Given the description of an element on the screen output the (x, y) to click on. 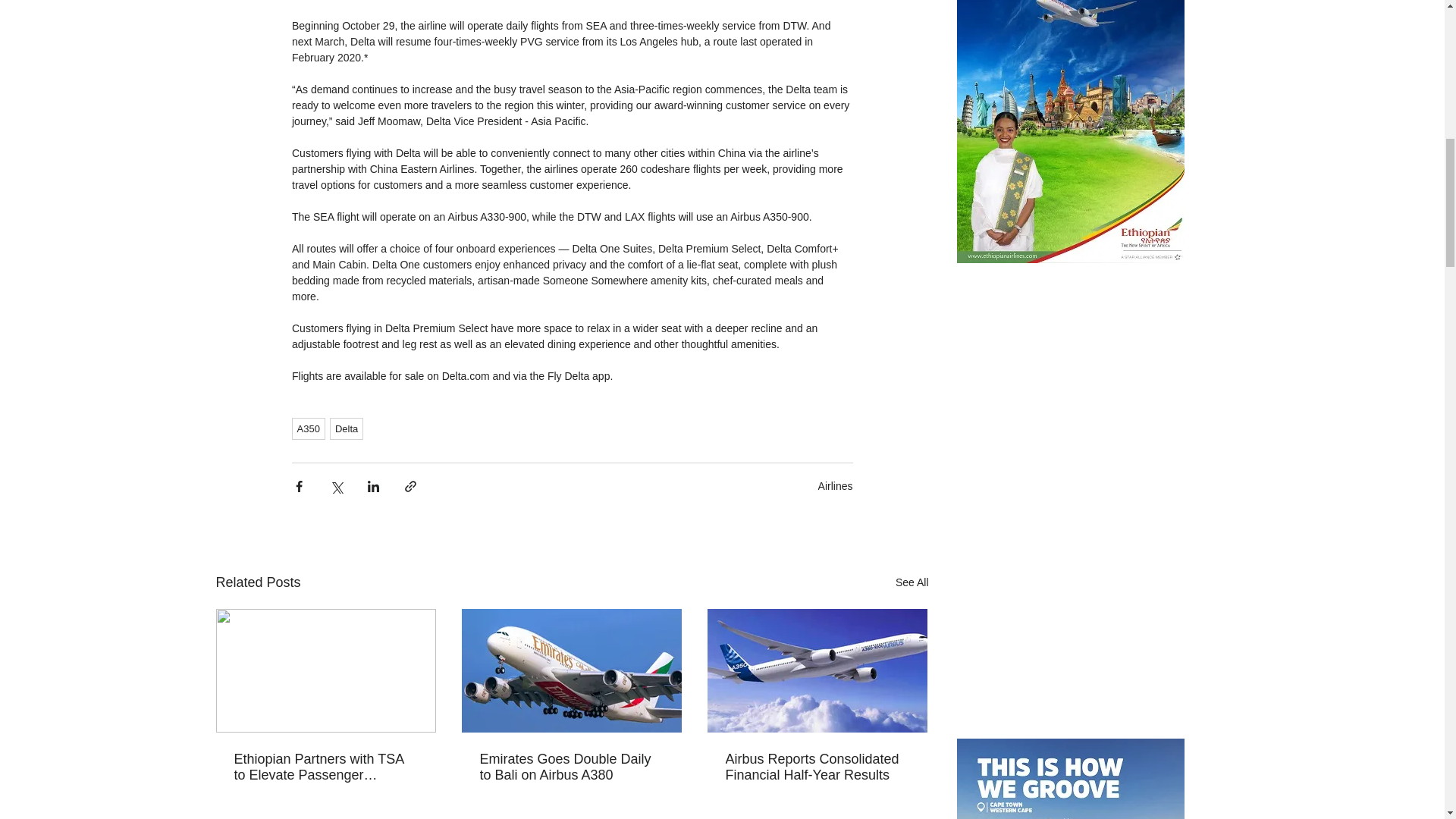
Ethiopian Partners with TSA to Elevate Passenger Experience (324, 766)
See All (911, 582)
Delta (346, 428)
Emirates Goes Double Daily to Bali on Airbus A380 (570, 766)
Airlines (835, 485)
A350 (307, 428)
Airbus Reports Consolidated Financial Half-Year Results (816, 766)
